Given the description of an element on the screen output the (x, y) to click on. 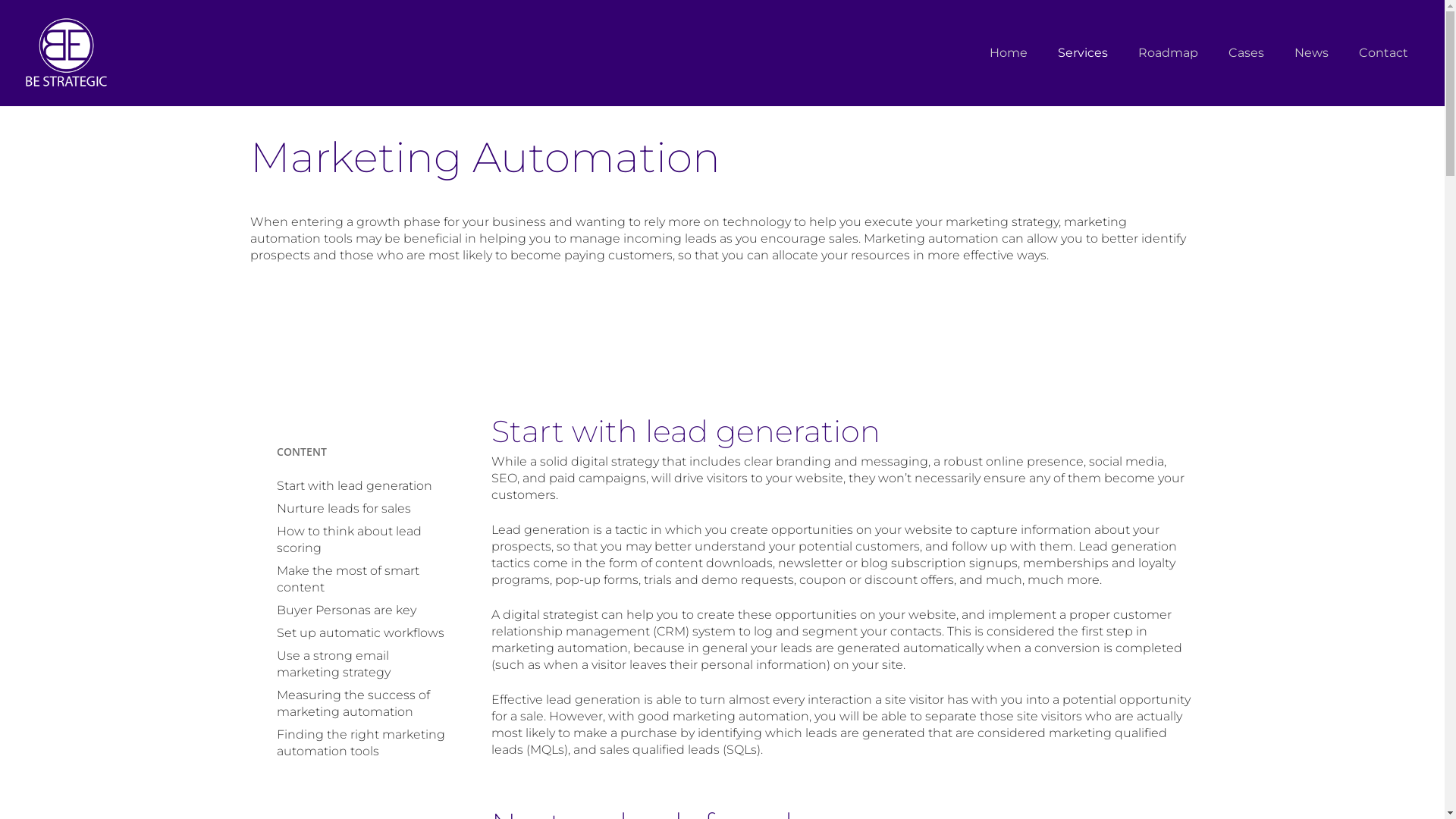
How to think about lead scoring Element type: text (360, 539)
Roadmap Element type: text (1168, 53)
Home Element type: text (1008, 53)
Services Element type: text (1082, 53)
Use a strong email marketing strategy Element type: text (360, 663)
Make the most of smart content Element type: text (360, 579)
Nurture leads for sales Element type: text (360, 508)
News Element type: text (1311, 53)
Set up automatic workflows Element type: text (360, 632)
Contact Element type: text (1383, 53)
Finding the right marketing automation tools Element type: text (360, 742)
Cases Element type: text (1246, 53)
Measuring the success of marketing automation Element type: text (360, 703)
Start with lead generation Element type: text (360, 485)
Buyer Personas are key Element type: text (360, 610)
